Given the description of an element on the screen output the (x, y) to click on. 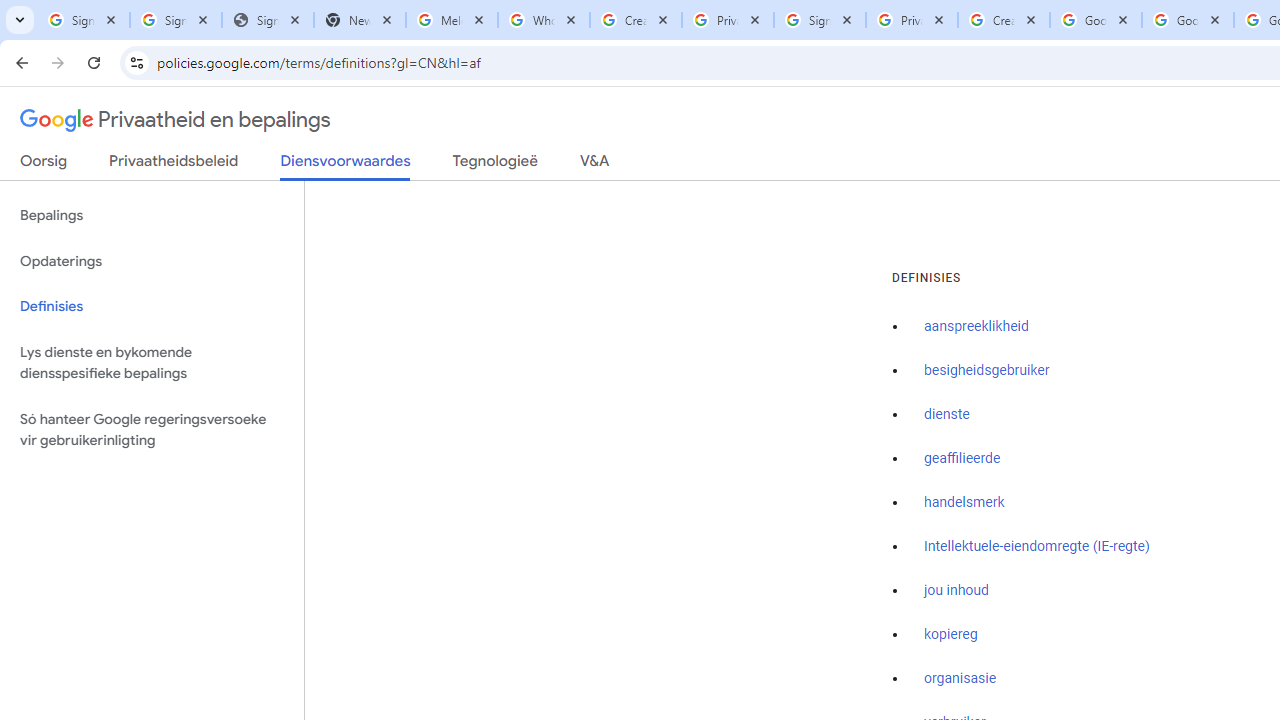
jou inhoud (956, 590)
Oorsig (43, 165)
Who is my administrator? - Google Account Help (543, 20)
Diensvoorwaardes (345, 166)
Opdaterings (152, 261)
Bepalings (152, 215)
dienste (947, 415)
New Tab (359, 20)
Sign in - Google Accounts (820, 20)
organisasie (960, 679)
handelsmerk (964, 502)
